Given the description of an element on the screen output the (x, y) to click on. 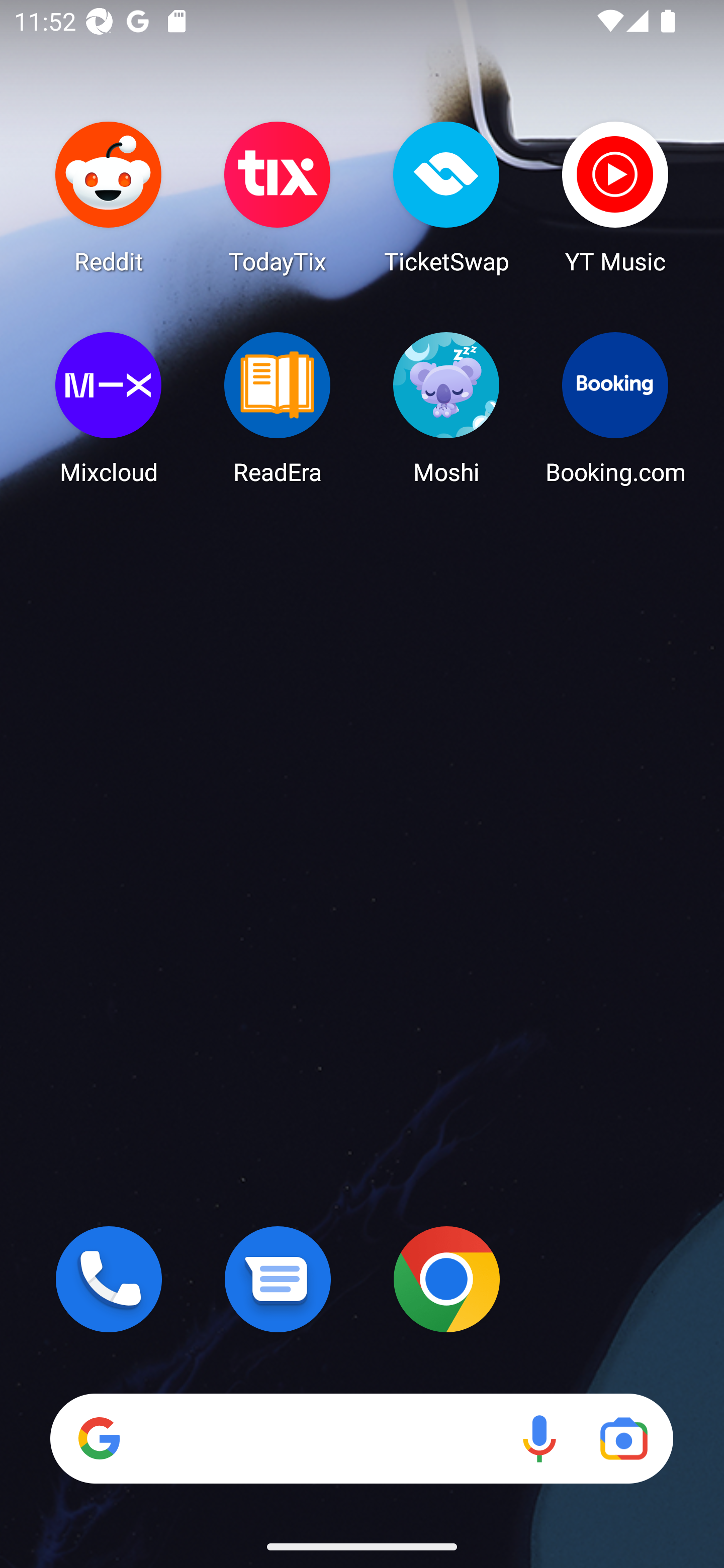
Reddit (108, 196)
TodayTix (277, 196)
TicketSwap (445, 196)
YT Music (615, 196)
Mixcloud (108, 407)
ReadEra (277, 407)
Moshi (445, 407)
Booking.com (615, 407)
Phone (108, 1279)
Messages (277, 1279)
Chrome (446, 1279)
Search Voice search Google Lens (361, 1438)
Voice search (539, 1438)
Google Lens (623, 1438)
